Given the description of an element on the screen output the (x, y) to click on. 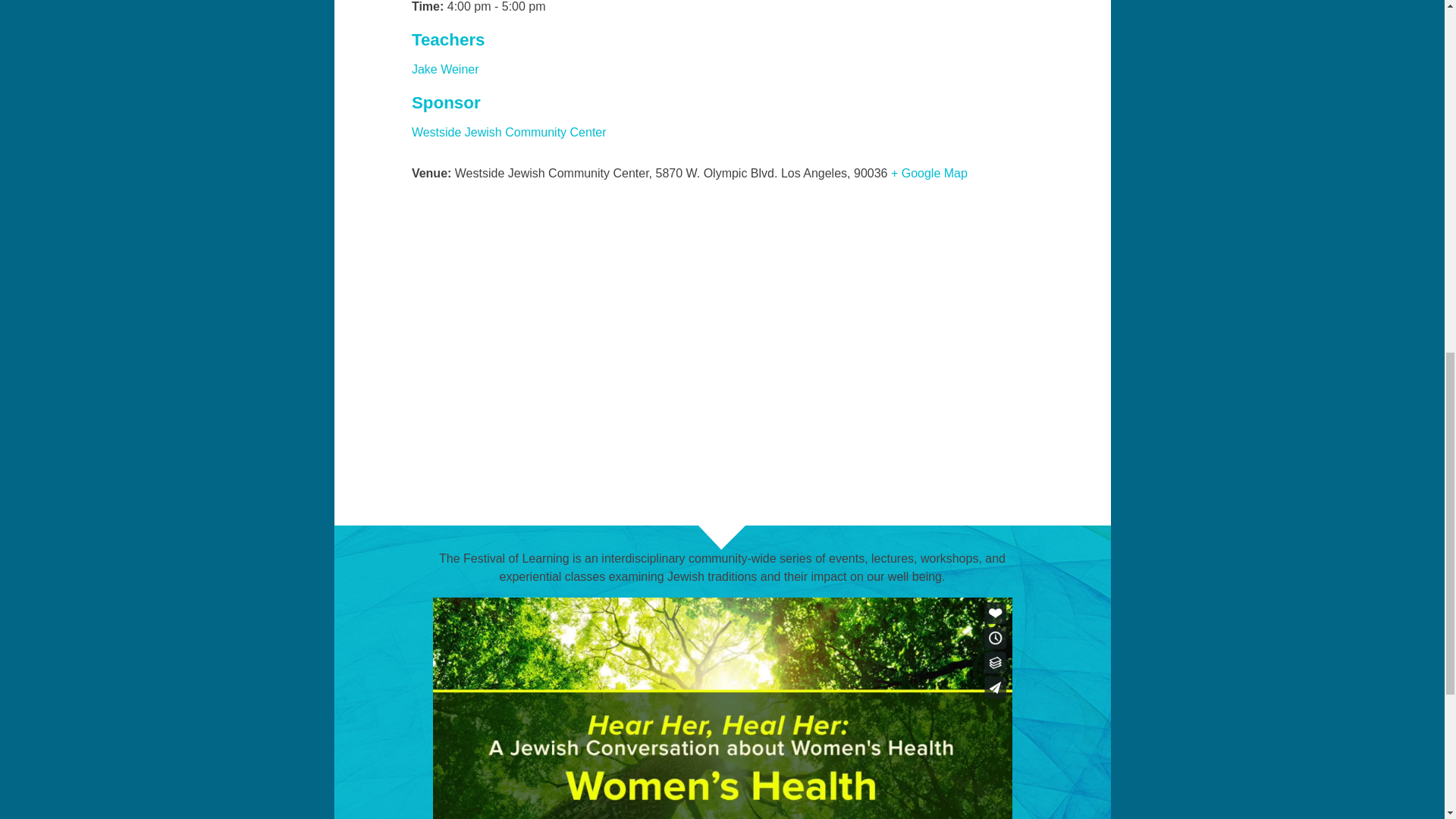
Westside Jewish Community Center (509, 132)
Click to view a Google Map (929, 173)
Westside Jewish Community Center (509, 132)
Jake Weiner (445, 69)
Jake Weiner (445, 69)
2018-04-17 (800, 7)
